Given the description of an element on the screen output the (x, y) to click on. 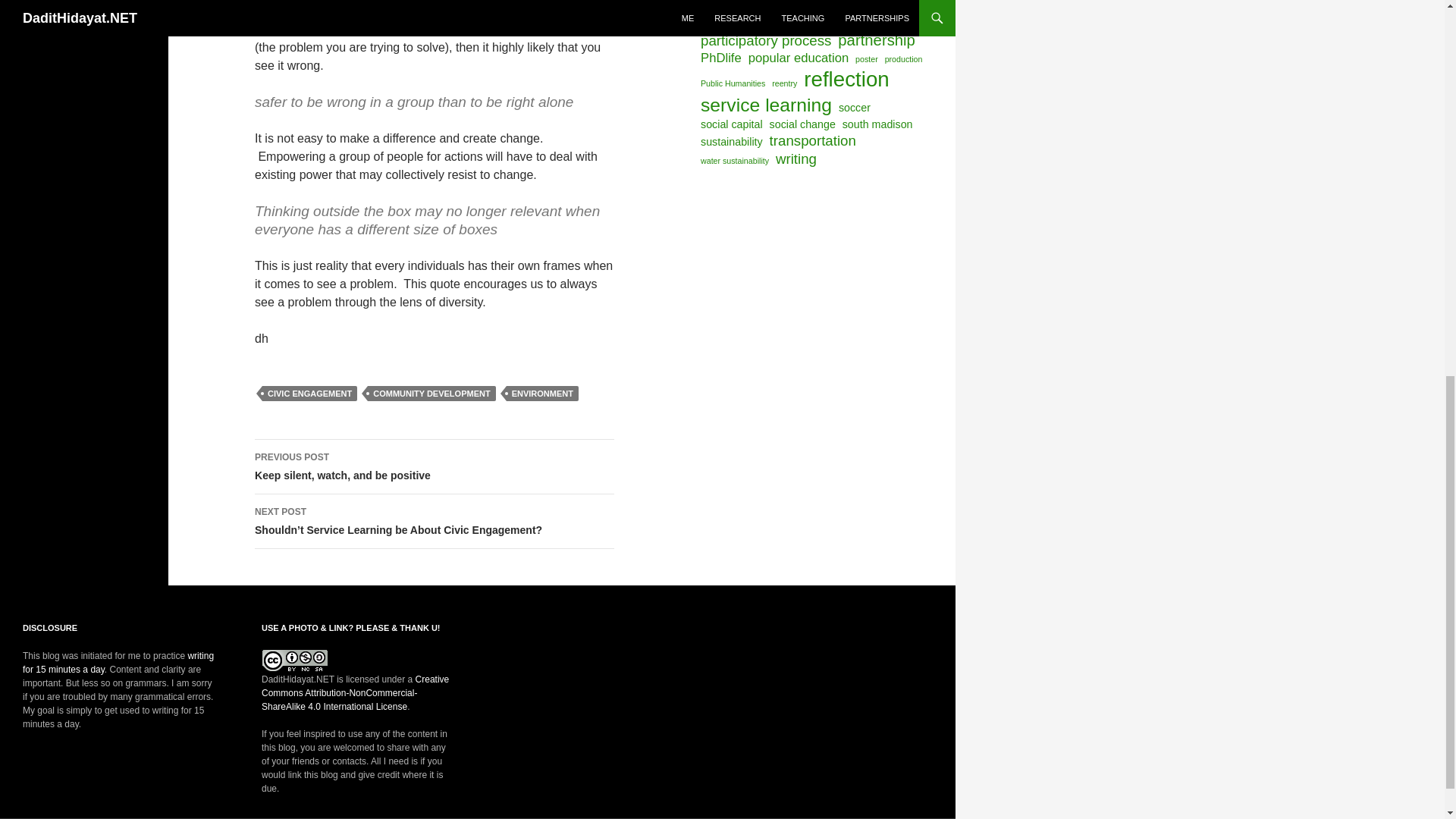
CIVIC ENGAGEMENT (309, 393)
ENVIRONMENT (542, 393)
COMMUNITY DEVELOPMENT (434, 466)
